Given the description of an element on the screen output the (x, y) to click on. 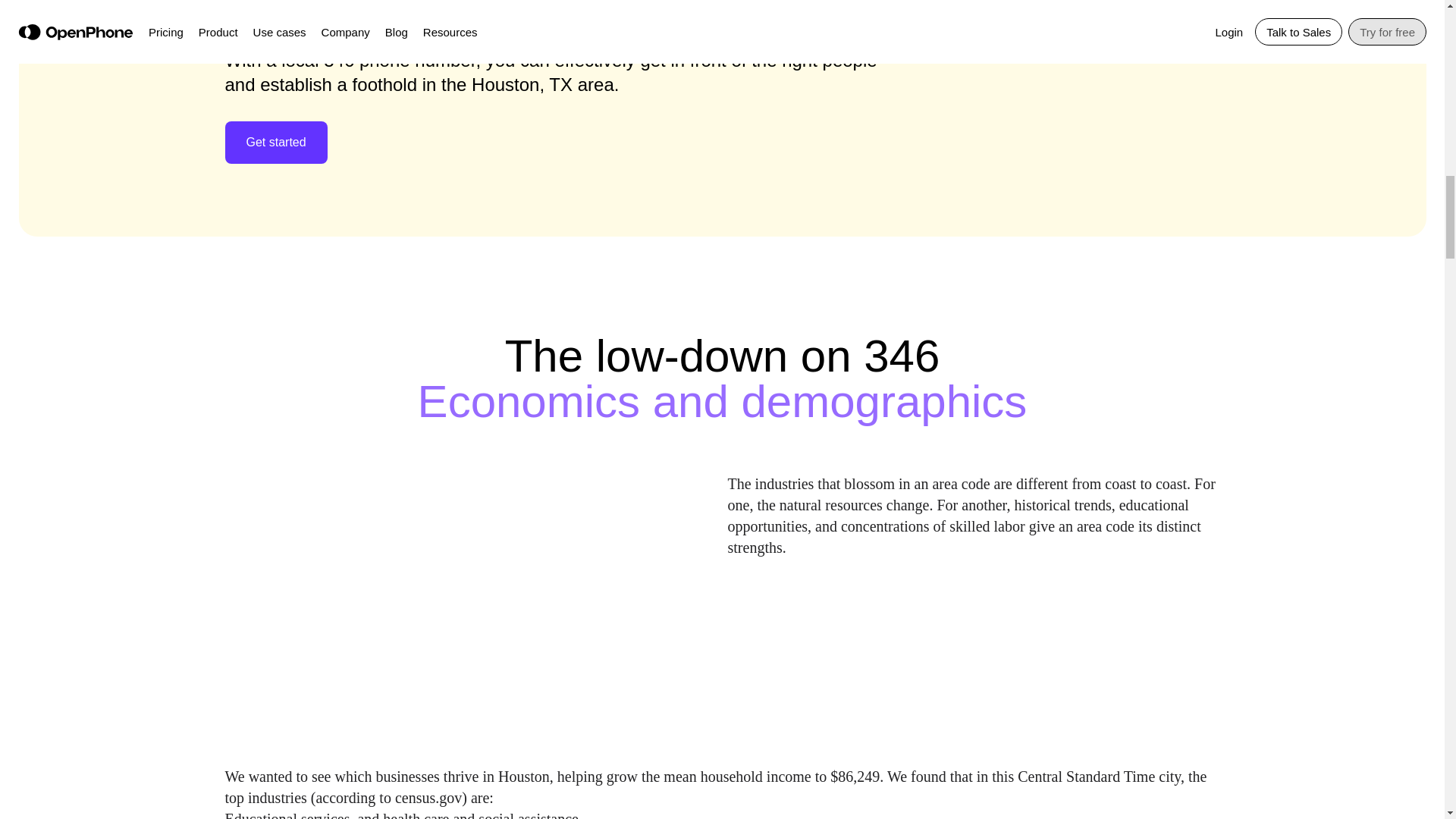
Get started (275, 141)
Get started (275, 142)
